Given the description of an element on the screen output the (x, y) to click on. 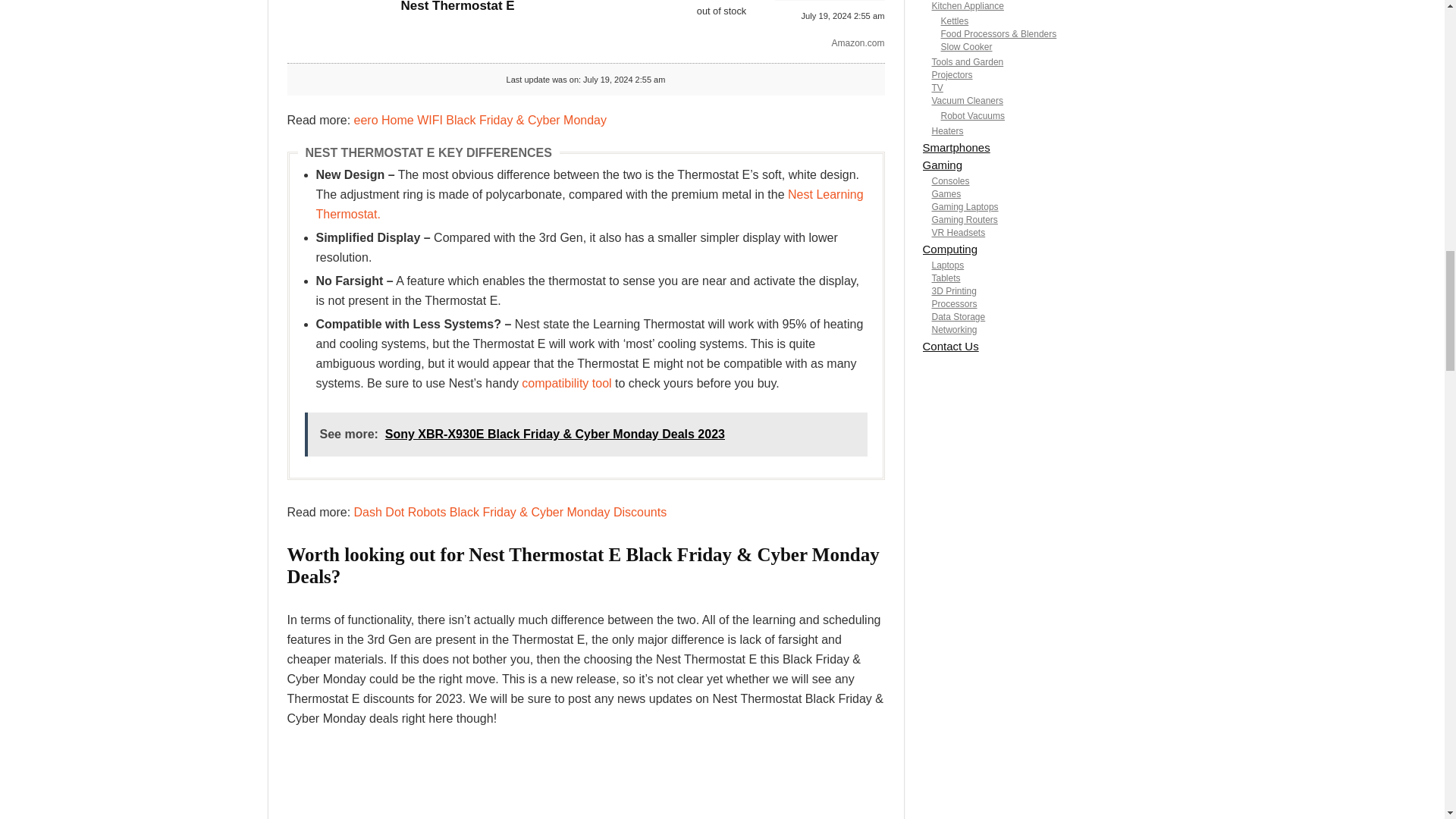
Nest Thermostat E Smart Thermostat Full Review (584, 784)
Last update was in: July 19, 2024 2:55 am (720, 11)
